Given the description of an element on the screen output the (x, y) to click on. 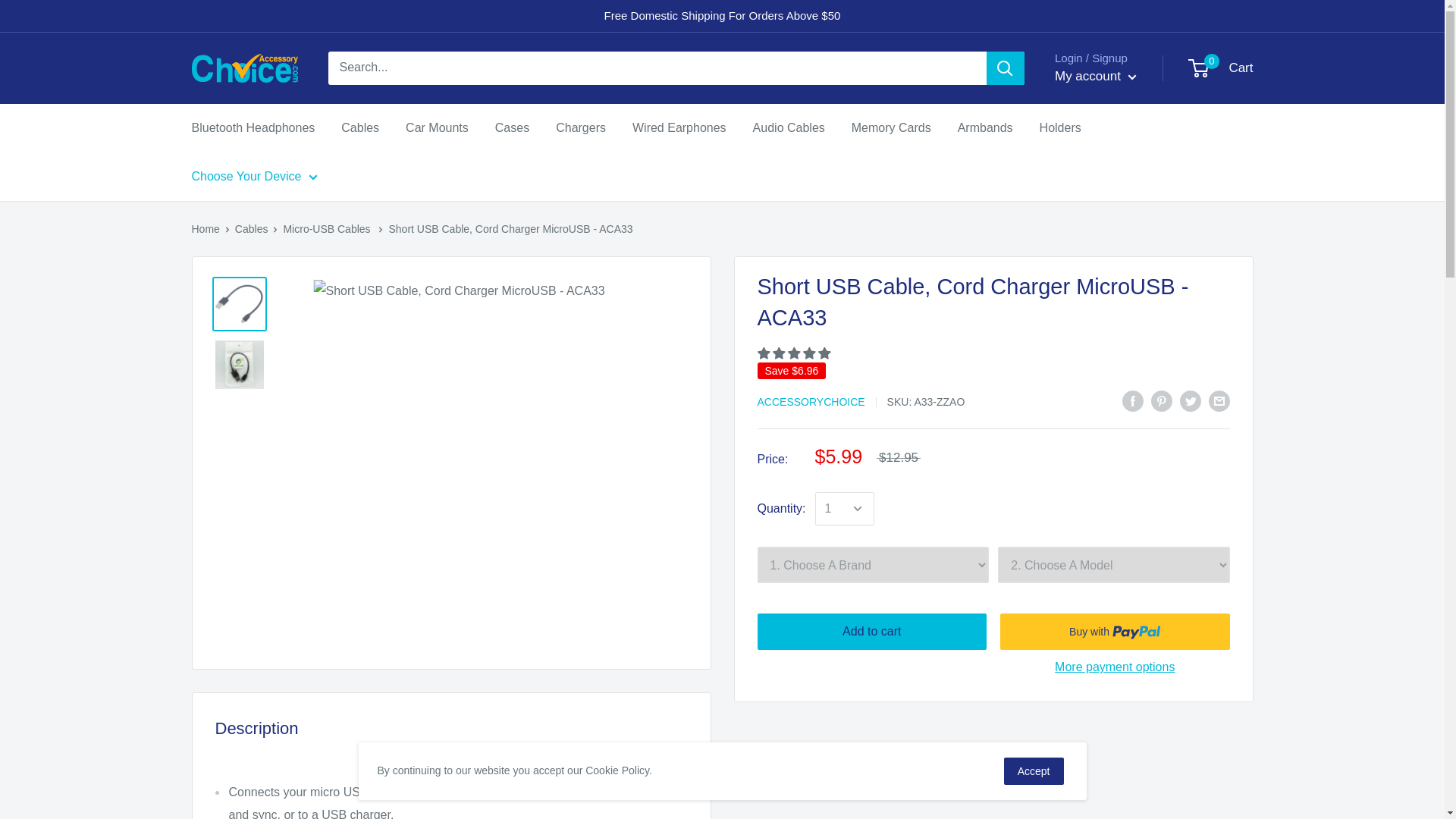
Wired Earphones (678, 128)
Armbands (985, 128)
Chargers (580, 128)
Memory Cards (891, 128)
Cases (512, 128)
Audio Cables (788, 128)
Car Mounts (437, 128)
Cables (359, 128)
Bluetooth Headphones (1221, 68)
My account (252, 128)
